Given the description of an element on the screen output the (x, y) to click on. 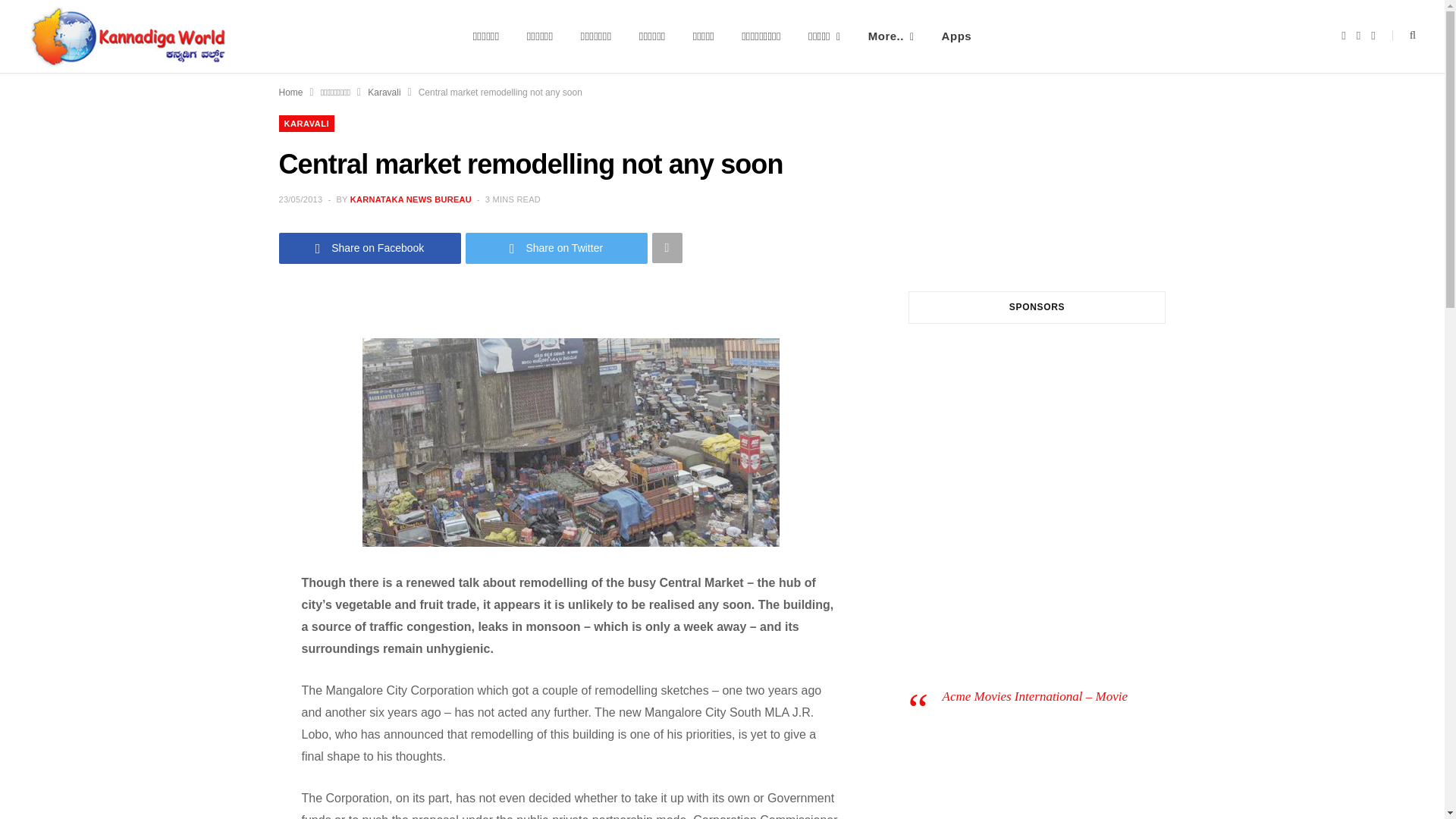
Share on Twitter (556, 247)
KARAVALI (306, 123)
Share on Twitter (556, 247)
Karavali (384, 92)
Home (290, 92)
KARNATAKA NEWS BUREAU (410, 198)
Share on Facebook (370, 247)
KANNADIGA WORLD (127, 36)
More.. (891, 36)
Share on Facebook (370, 247)
